Given the description of an element on the screen output the (x, y) to click on. 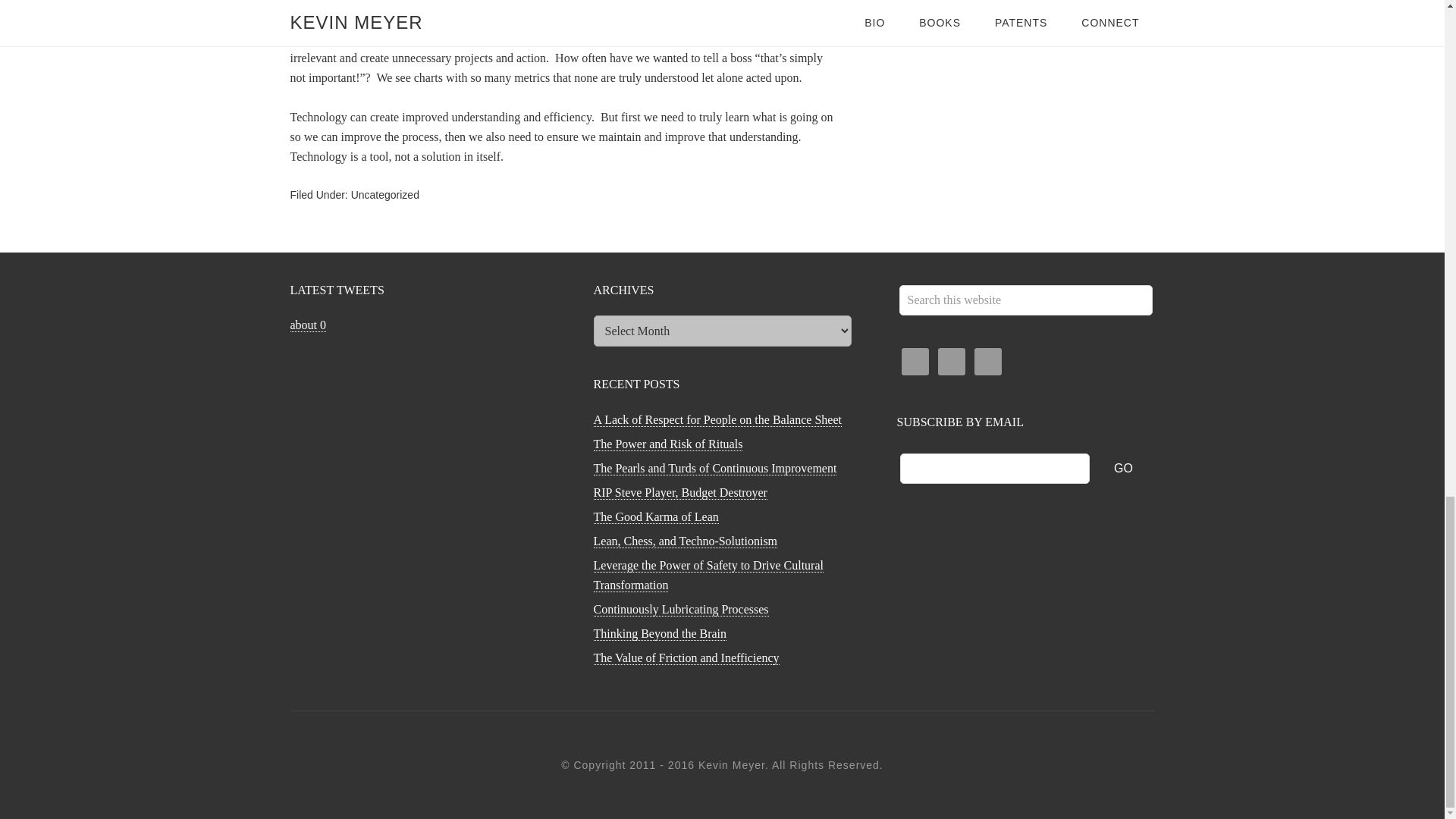
Uncategorized (384, 194)
RIP Steve Player, Budget Destroyer (679, 492)
The Pearls and Turds of Continuous Improvement (713, 468)
The Power and Risk of Rituals (667, 444)
The Value of Friction and Inefficiency (685, 658)
Thinking Beyond the Brain (659, 633)
Lean, Chess, and Techno-Solutionism (684, 540)
Go (1123, 468)
The Good Karma of Lean (654, 517)
Continuously Lubricating Processes (680, 609)
about 0 (307, 325)
